Given the description of an element on the screen output the (x, y) to click on. 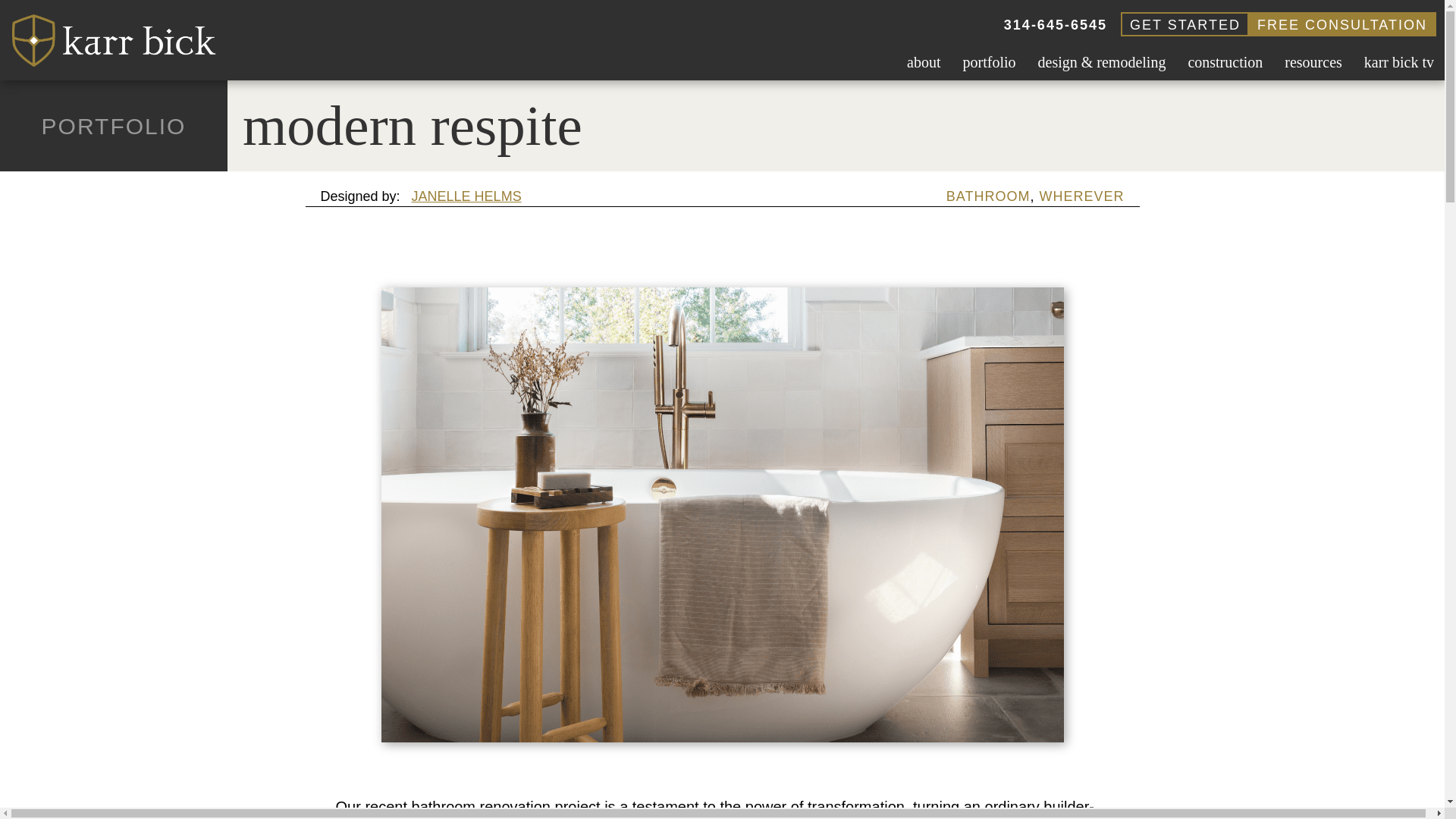
WHEREVER (1081, 196)
BATHROOM (988, 196)
karr bick tv (1399, 59)
PORTFOLIO (114, 125)
Janelle Helms (466, 196)
GET STARTED (1185, 24)
314-645-6545 (1055, 24)
construction (1224, 59)
FREE CONSULTATION (1341, 24)
JANELLE HELMS (466, 196)
